Given the description of an element on the screen output the (x, y) to click on. 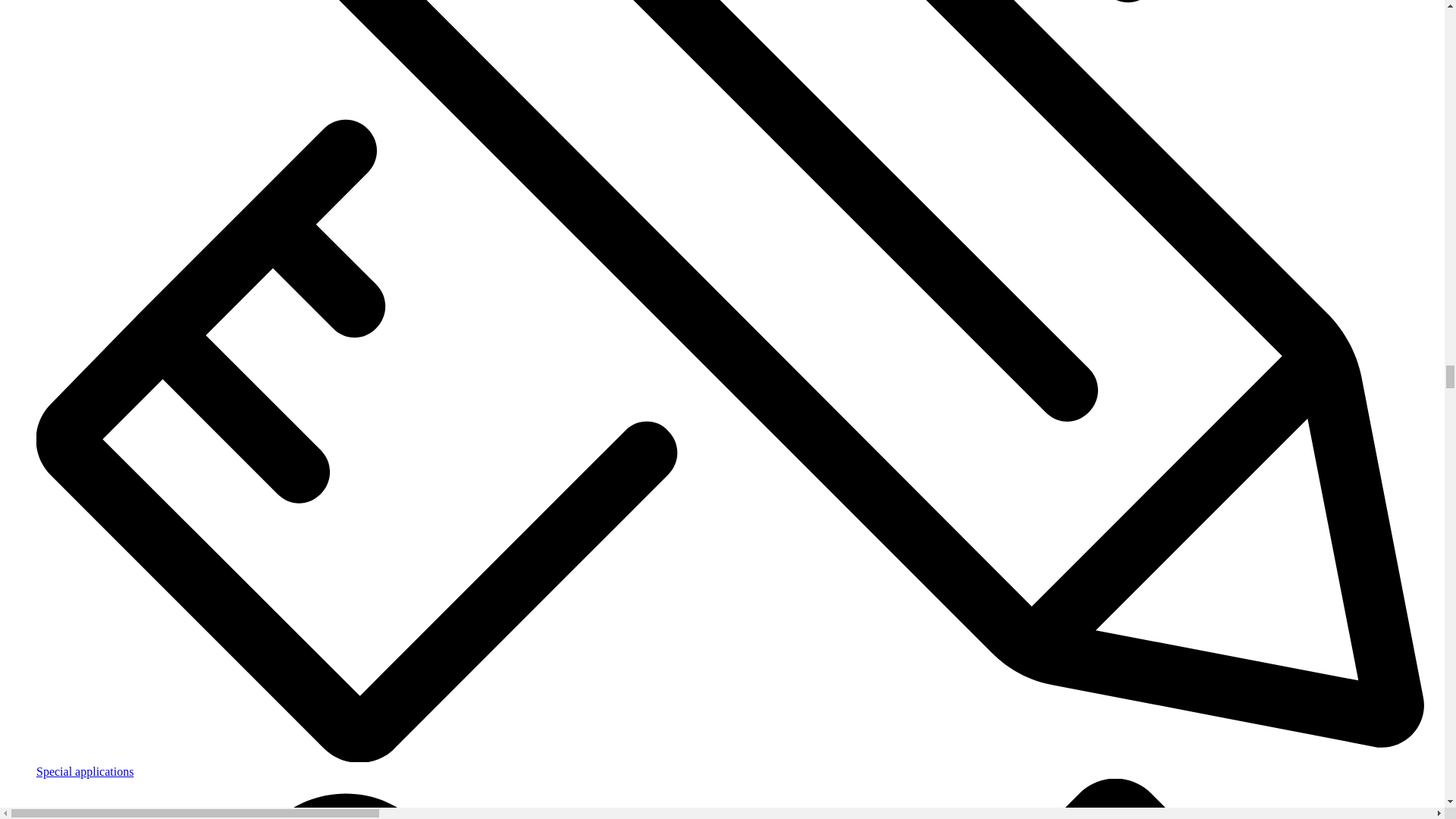
Special applications (737, 791)
